Given the description of an element on the screen output the (x, y) to click on. 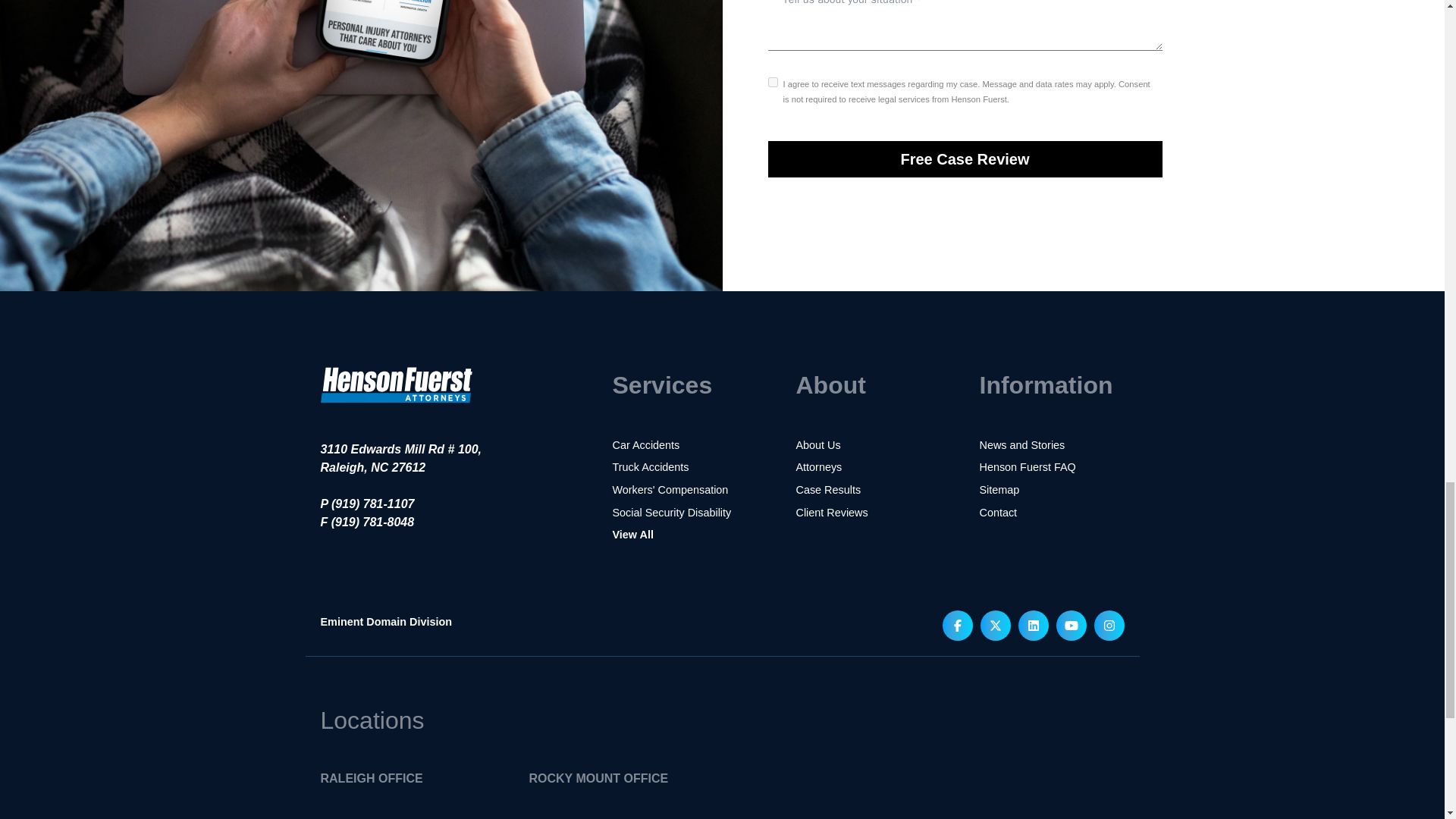
on (772, 81)
Home (395, 413)
